Given the description of an element on the screen output the (x, y) to click on. 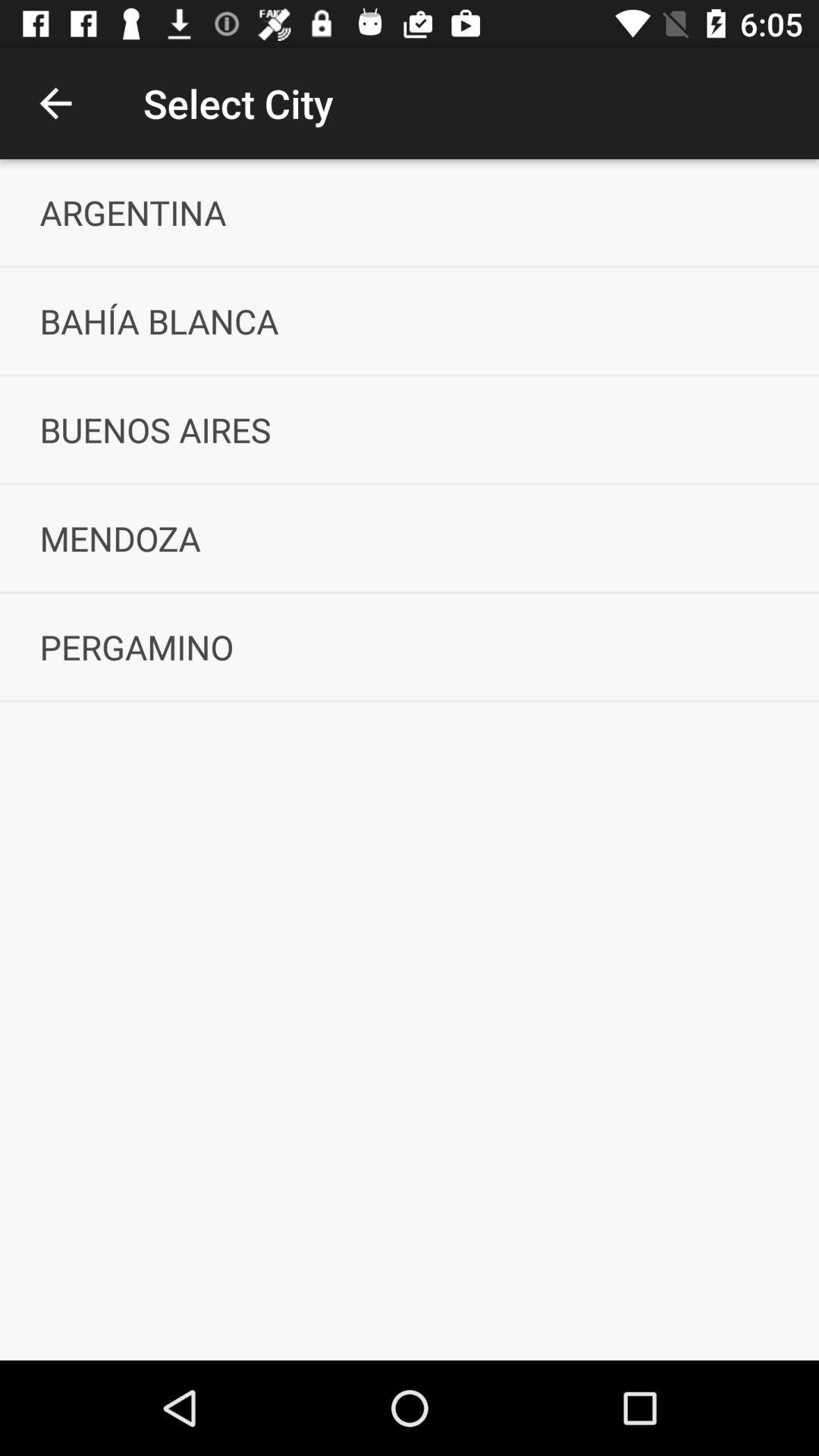
scroll until pergamino item (409, 646)
